Given the description of an element on the screen output the (x, y) to click on. 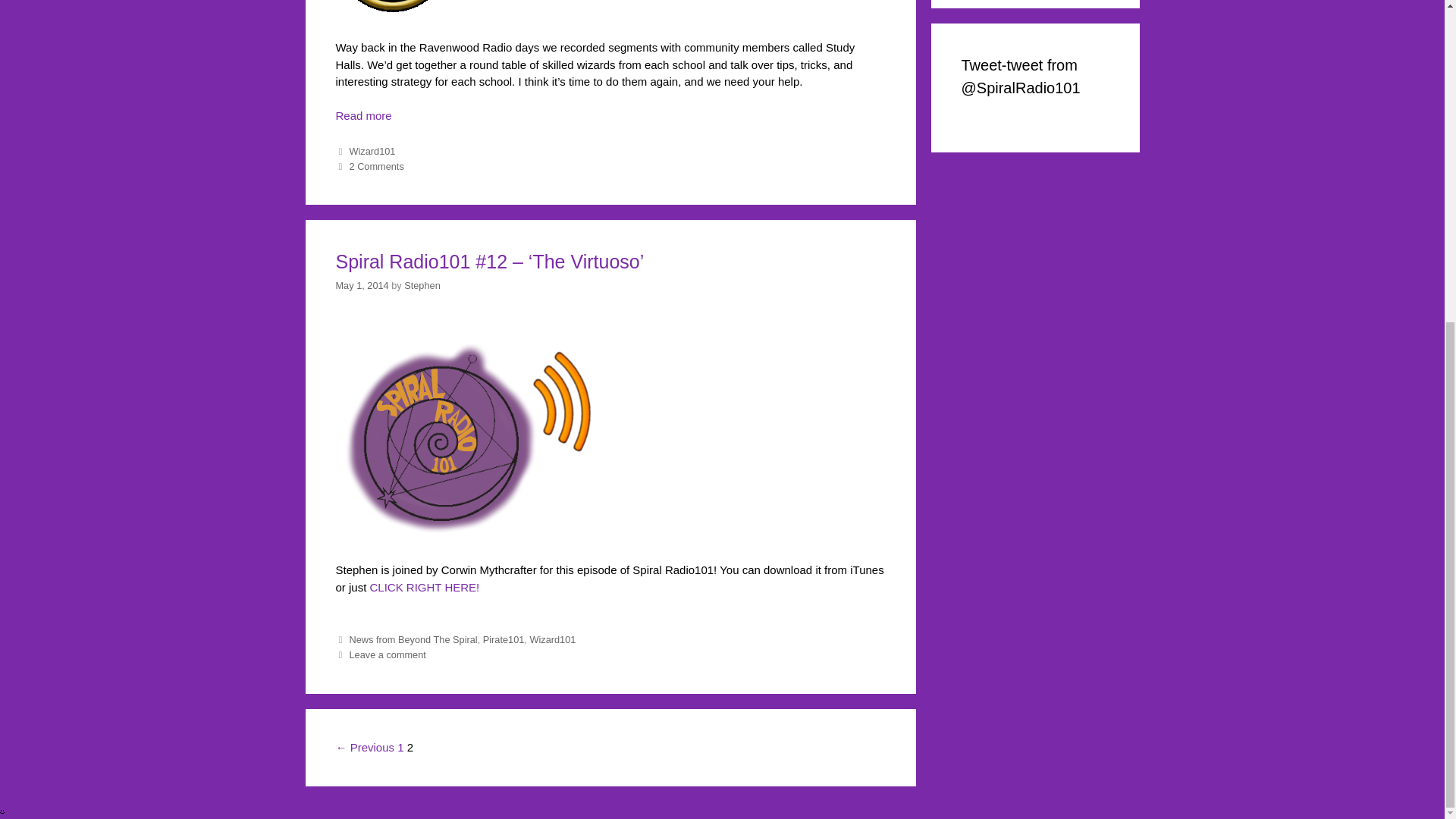
Wizard101 (371, 151)
Leave a comment (387, 654)
Read more (609, 117)
10:04 pm (361, 285)
Wizard101 (552, 639)
View all posts by Stephen (422, 285)
Stephen (422, 285)
2 Comments (376, 165)
News from Beyond The Spiral (413, 639)
CLICK RIGHT HERE! (424, 586)
